Given the description of an element on the screen output the (x, y) to click on. 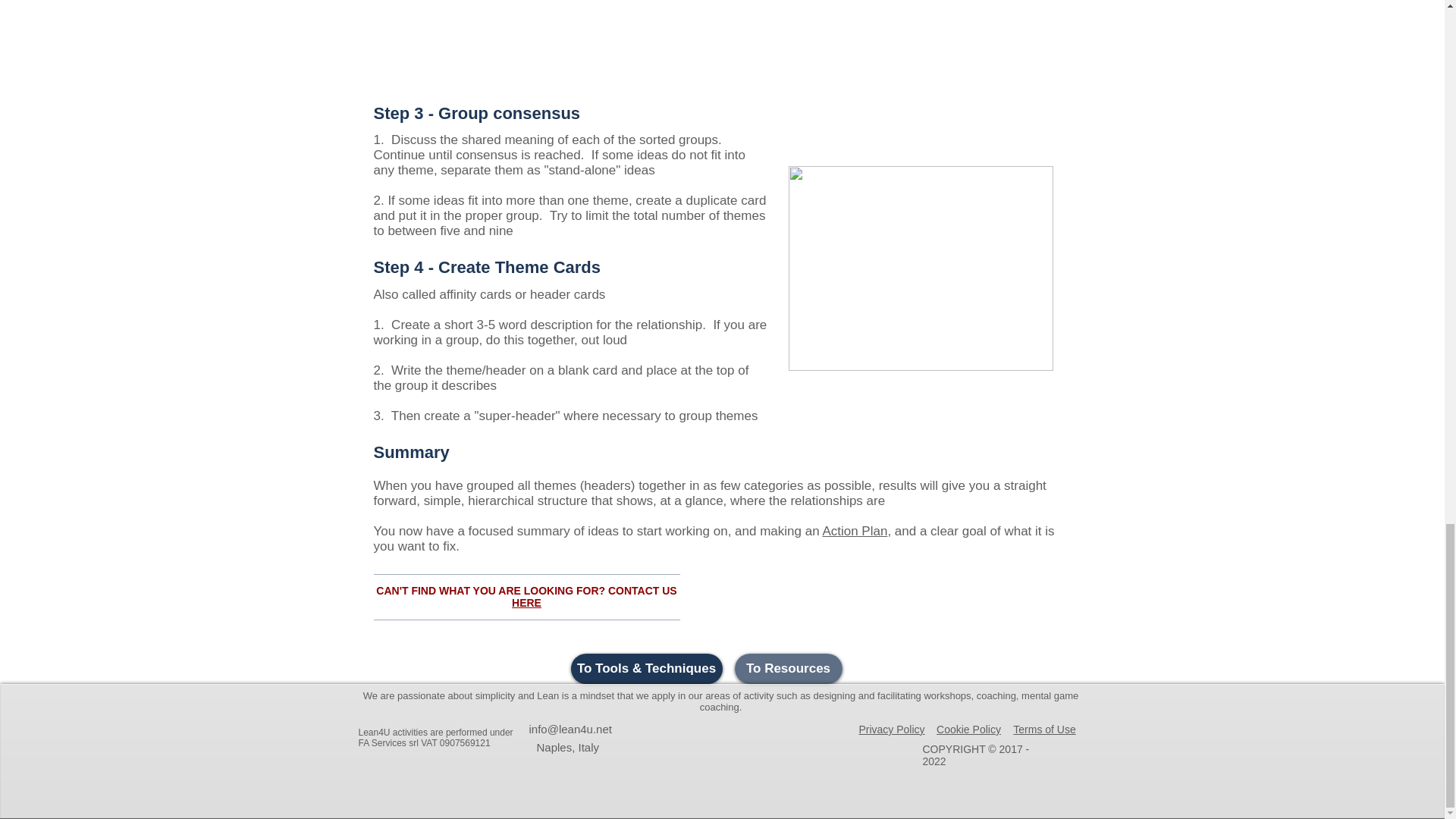
To Resources (787, 668)
Terms of Use (1044, 729)
Cookie Policy (968, 729)
Action Plan (854, 531)
HERE (526, 603)
Privacy Policy (891, 729)
